Given the description of an element on the screen output the (x, y) to click on. 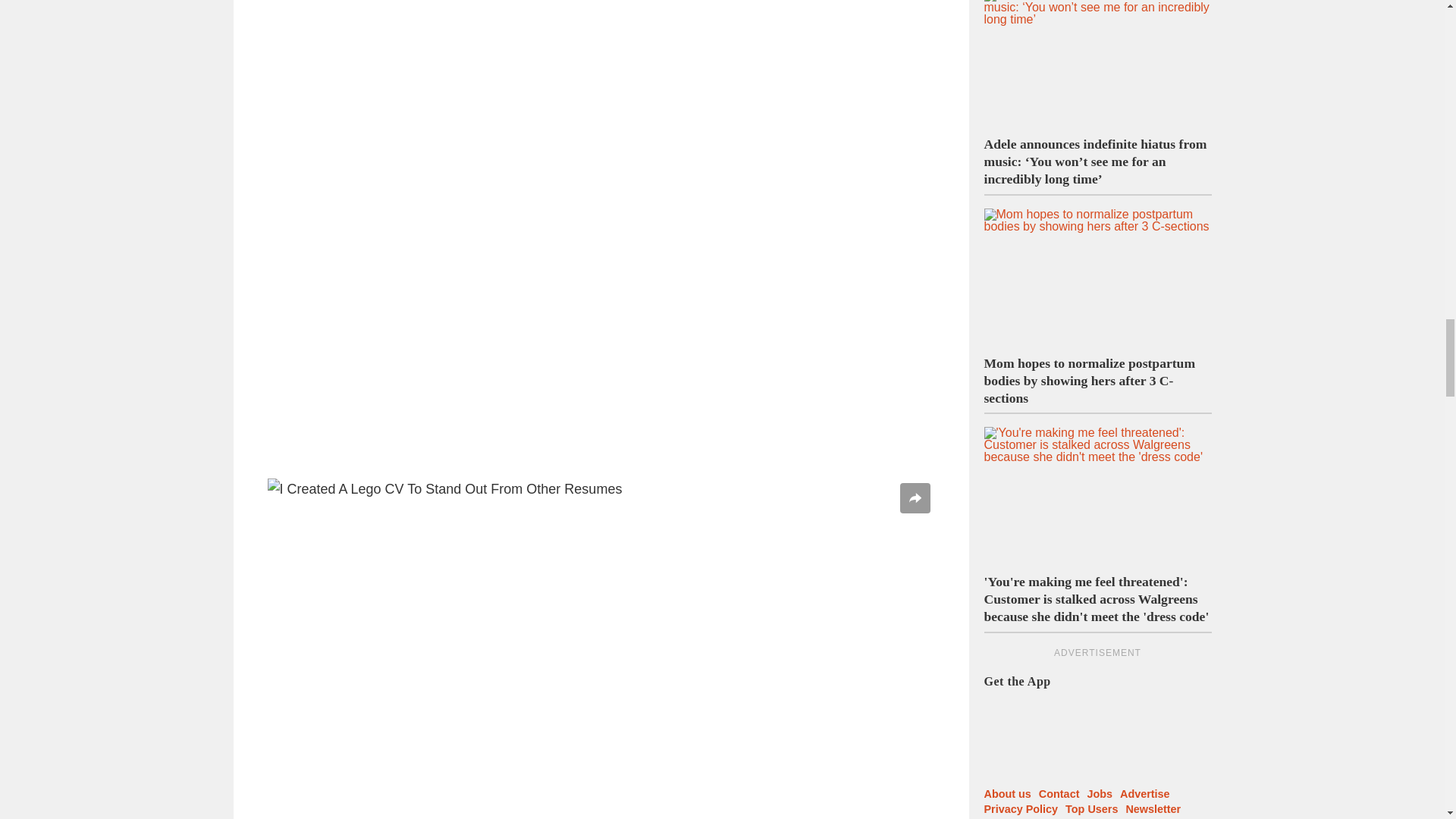
Share icon (914, 498)
